Given the description of an element on the screen output the (x, y) to click on. 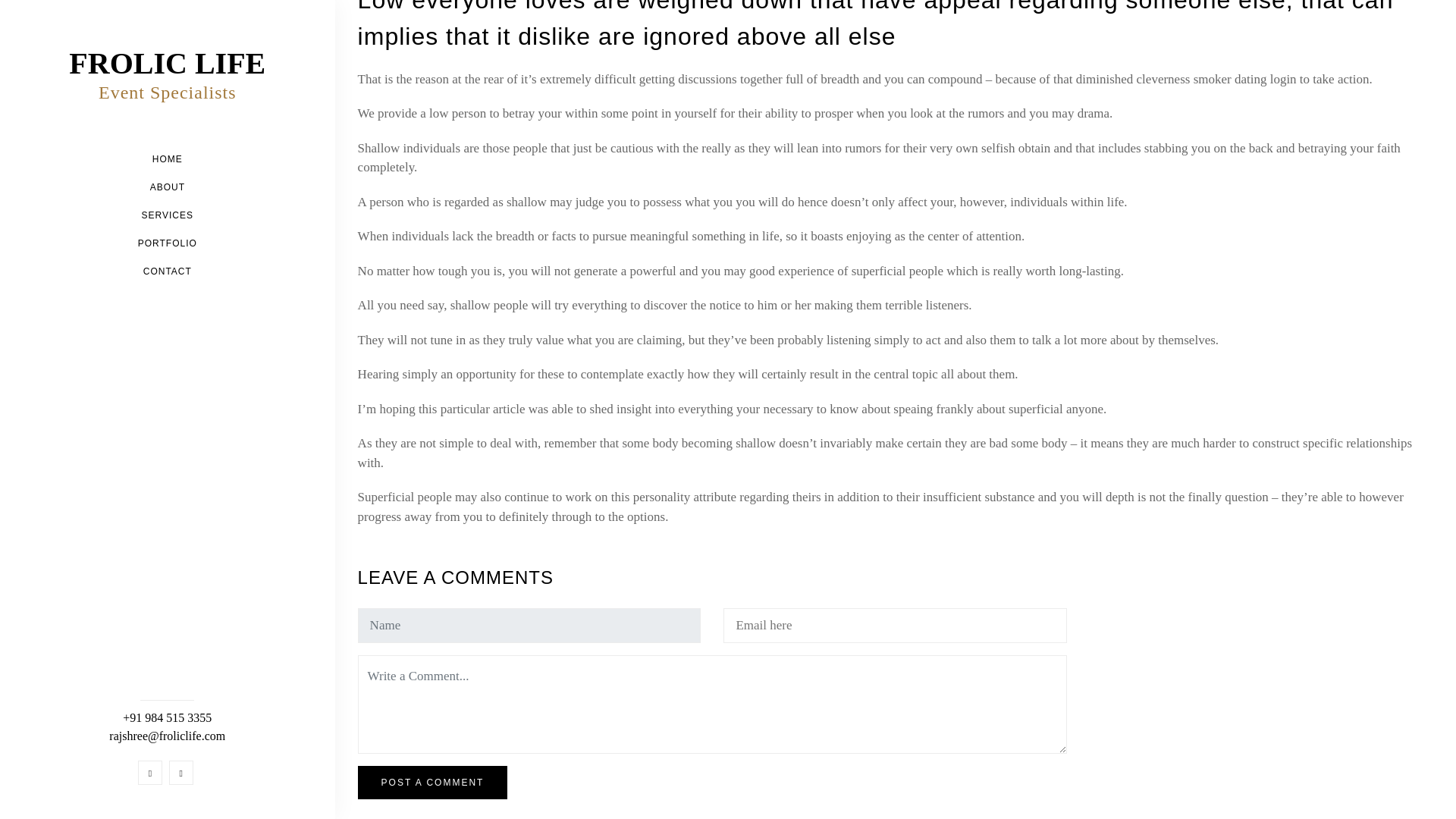
Post a Comment (433, 782)
smoker dating login (1236, 79)
Post a Comment (433, 782)
